Given the description of an element on the screen output the (x, y) to click on. 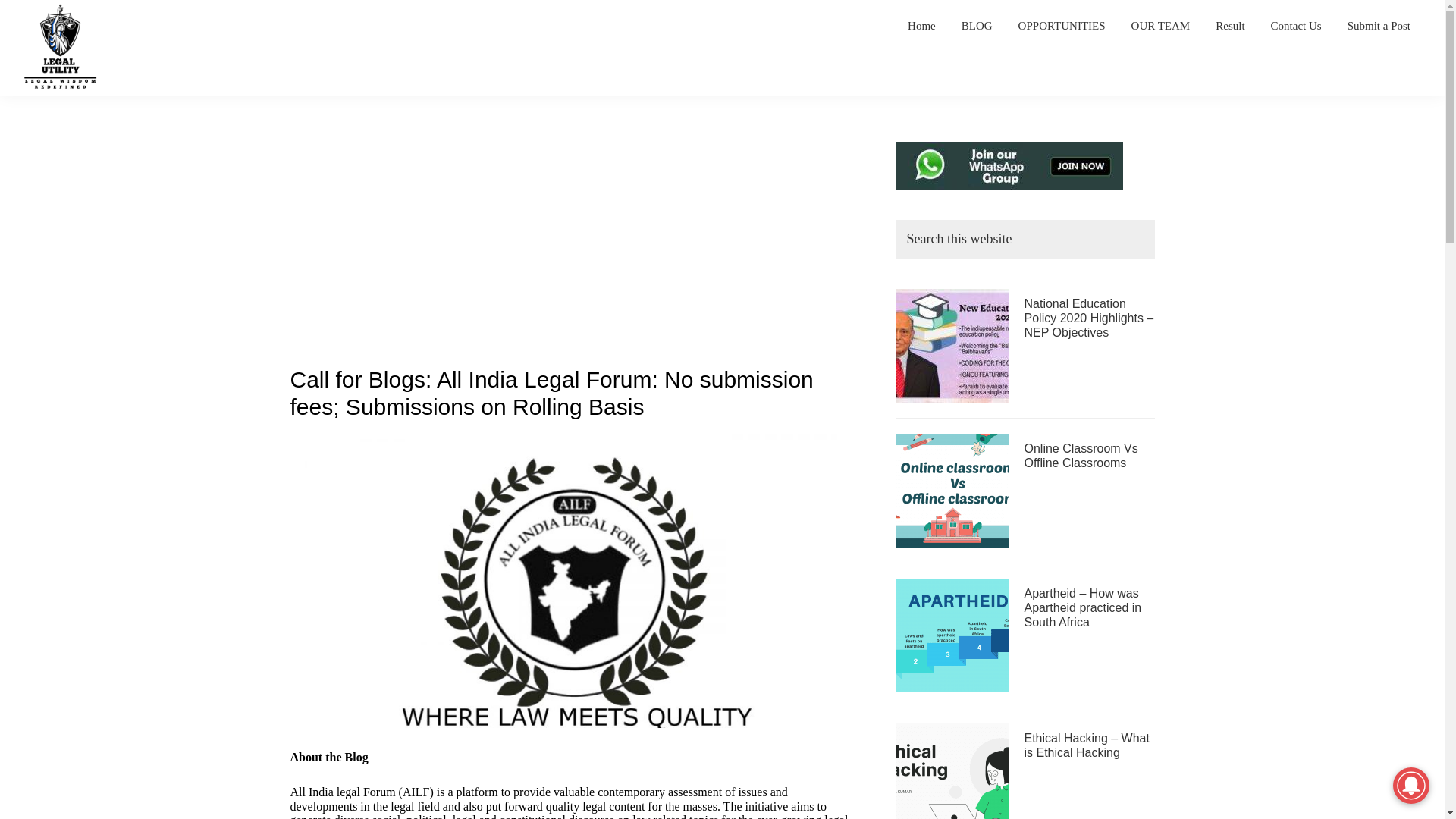
Result (1229, 25)
OPPORTUNITIES (1061, 25)
Contact Us (1296, 25)
BLOG (977, 25)
Home (921, 25)
Advertisement (570, 254)
Submit a Post (1379, 25)
